Given the description of an element on the screen output the (x, y) to click on. 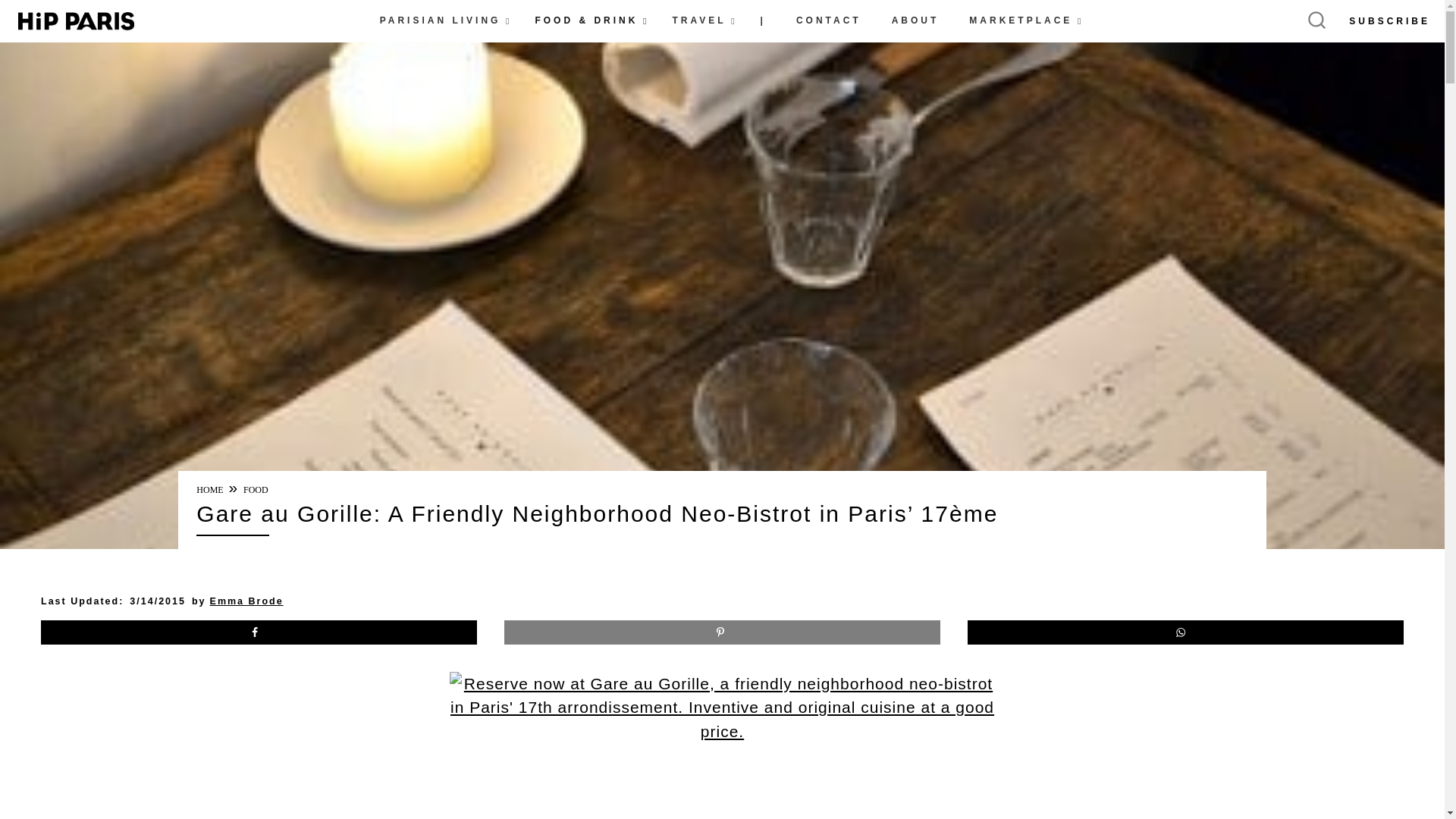
Share on Facebook (258, 631)
Save to Pinterest (721, 631)
PARISIAN LIVING (442, 21)
TRAVEL (700, 21)
Share on WhatsApp (1185, 631)
